Given the description of an element on the screen output the (x, y) to click on. 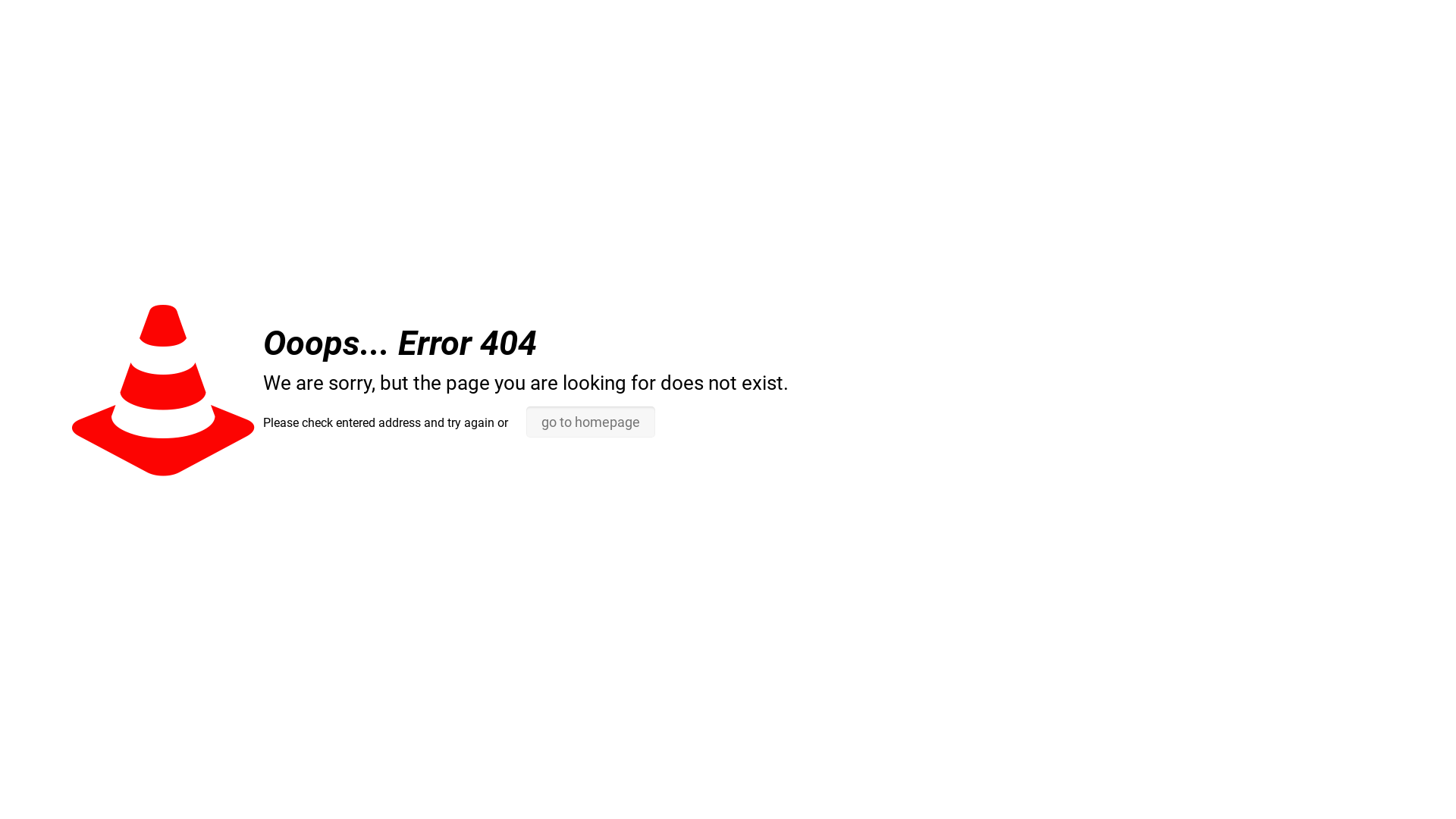
go to homepage Element type: text (590, 421)
